Given the description of an element on the screen output the (x, y) to click on. 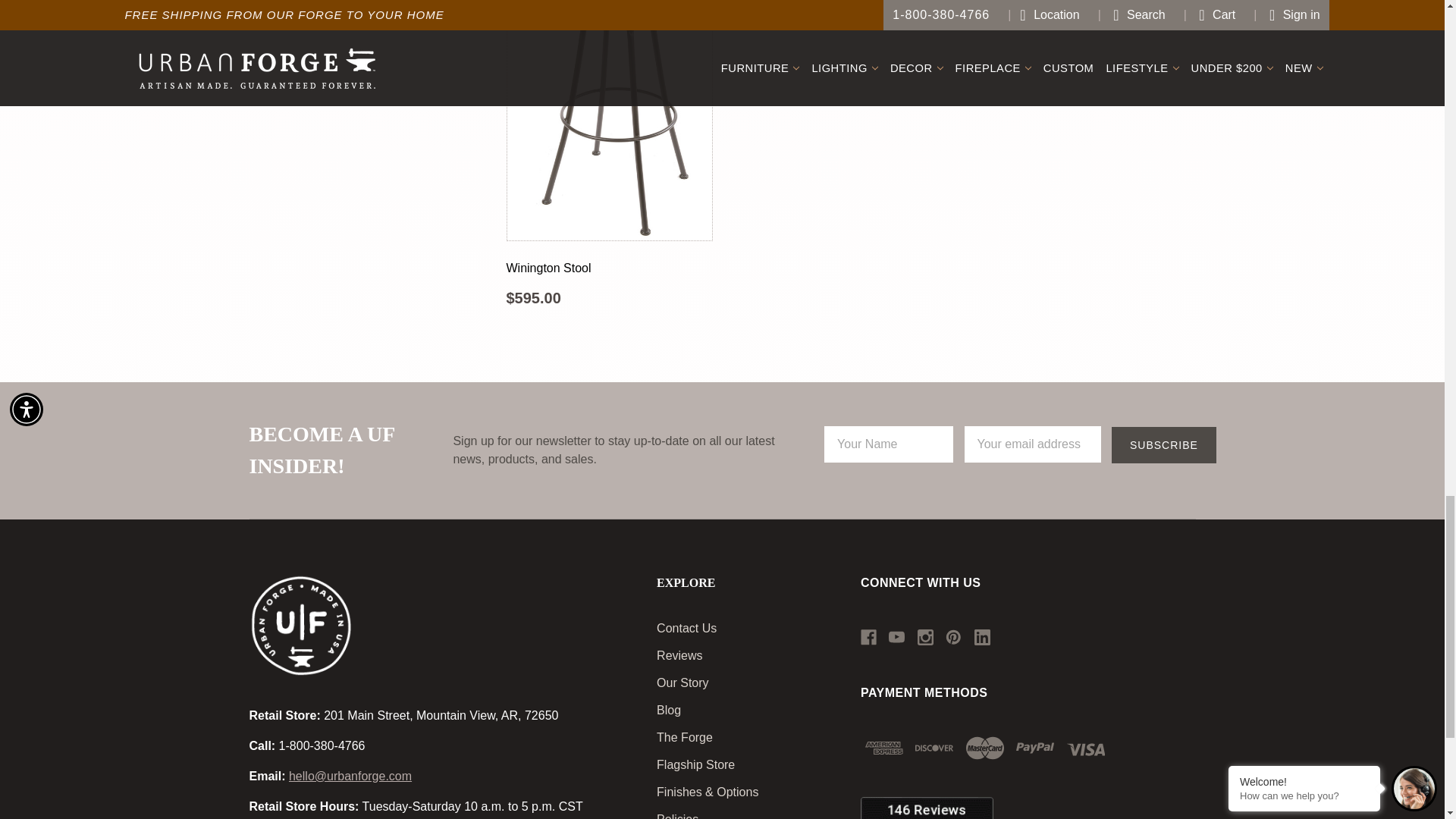
Subscribe (1163, 443)
